Given the description of an element on the screen output the (x, y) to click on. 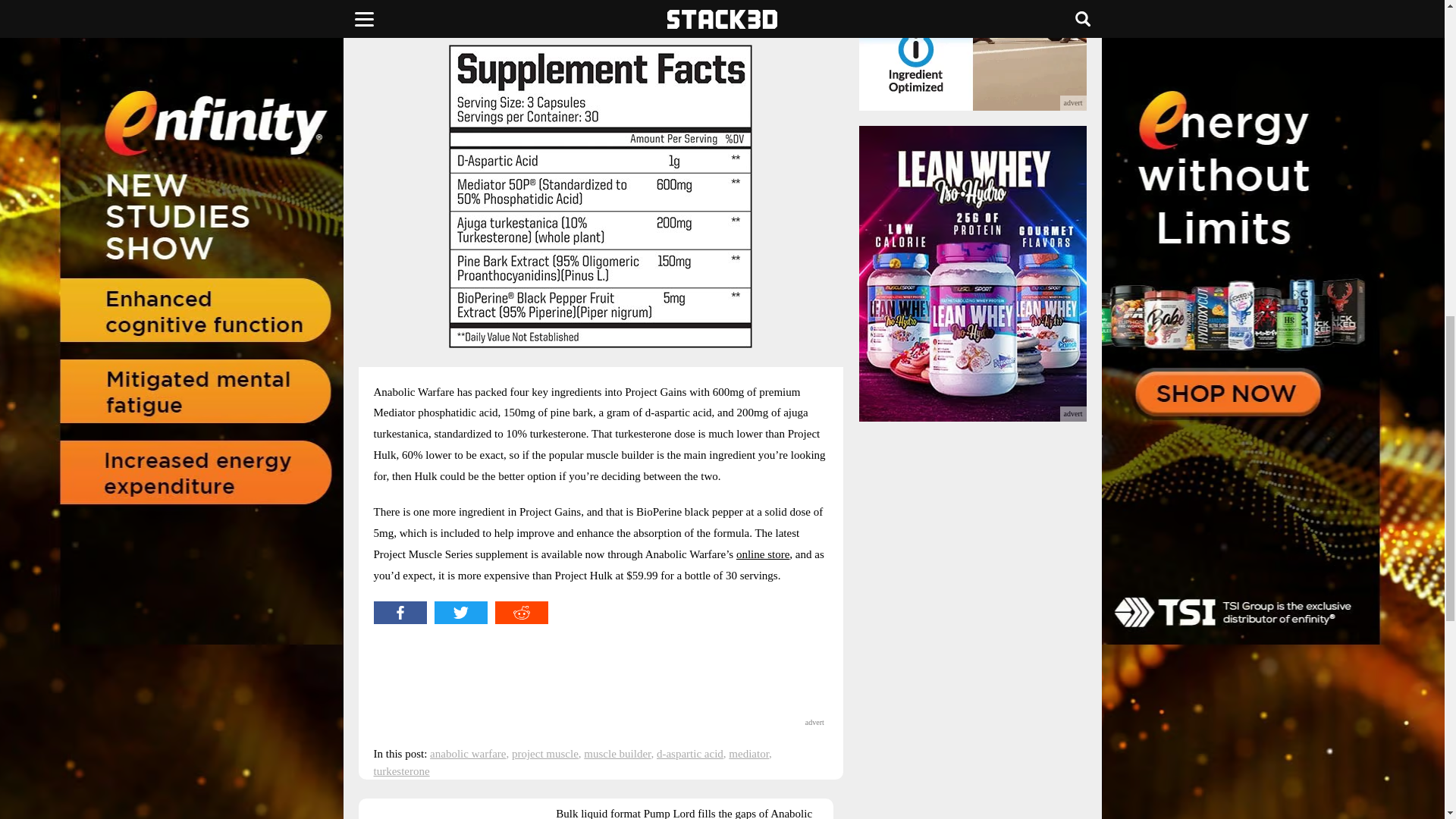
online store (762, 553)
